Given the description of an element on the screen output the (x, y) to click on. 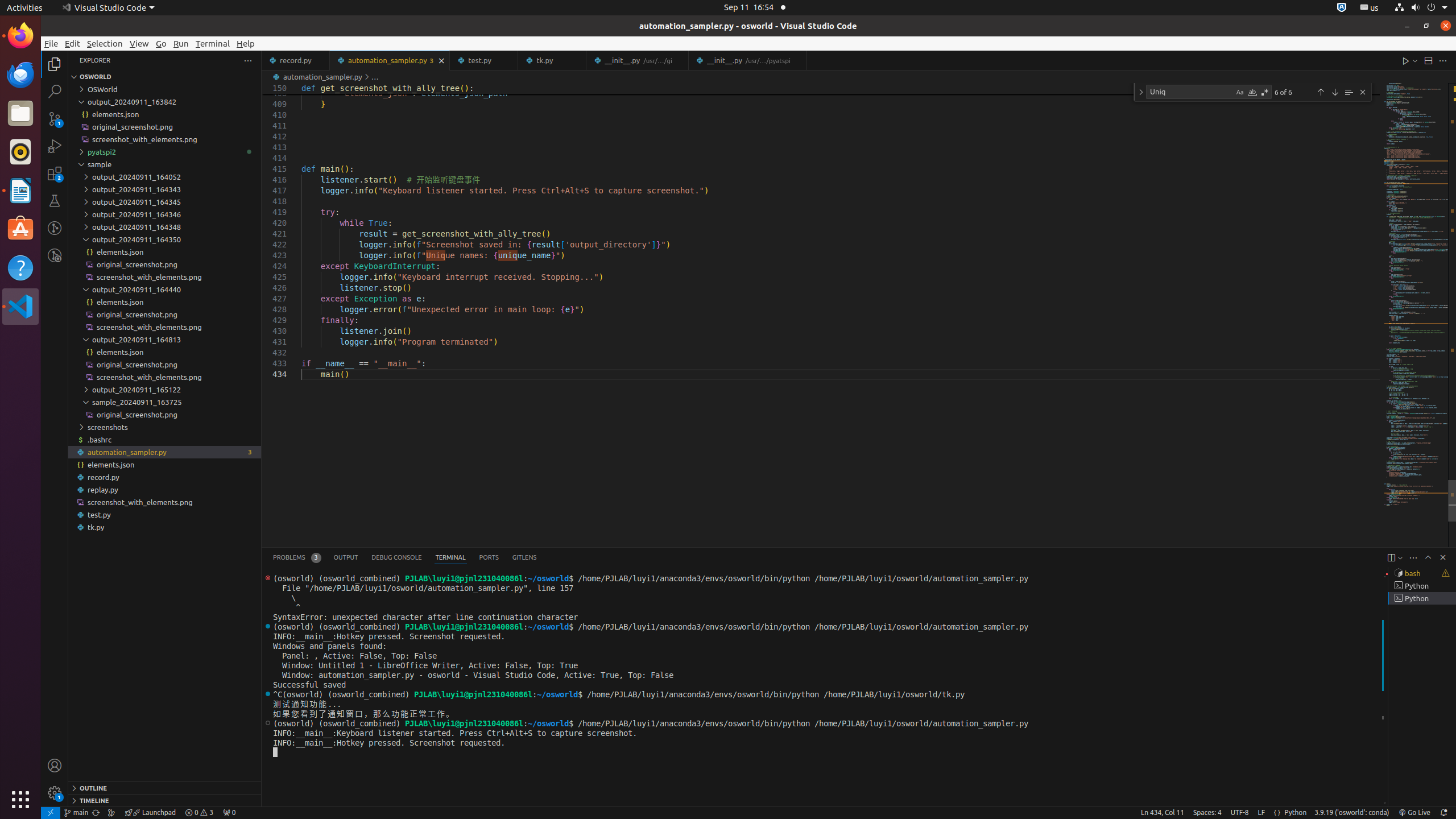
Output (Ctrl+K Ctrl+H) Element type: page-tab (345, 557)
Files Explorer Element type: tree (164, 432)
output_20240911_165122 Element type: tree-item (164, 389)
Notifications Element type: push-button (1443, 812)
output_20240911_164348 Element type: tree-item (164, 226)
